Given the description of an element on the screen output the (x, y) to click on. 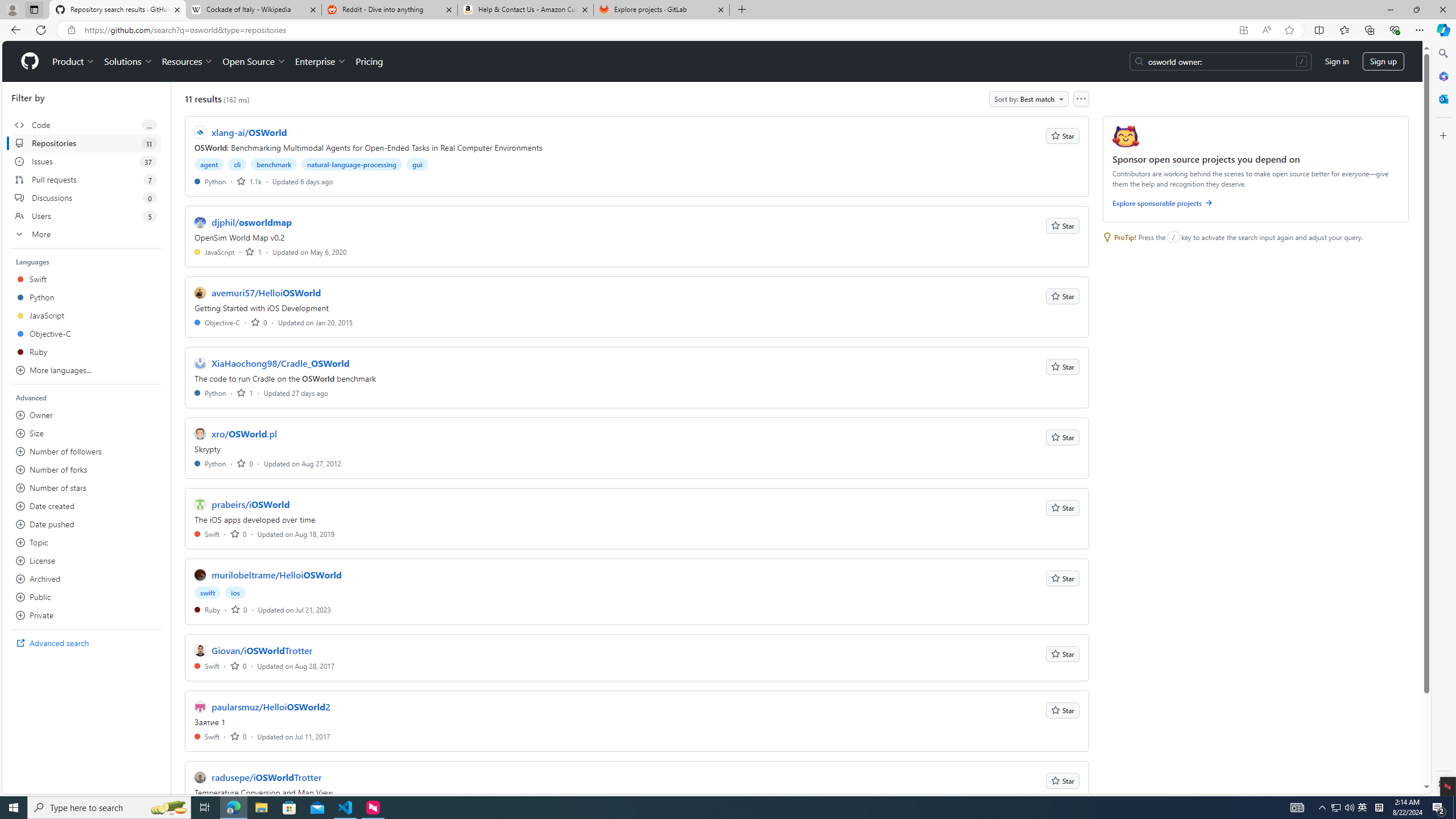
More languages... (86, 370)
JavaScript (214, 251)
0 (238, 736)
More (86, 234)
XiaHaochong98/Cradle_OSWorld (280, 363)
Advanced search (86, 642)
Star (1061, 780)
radusepe/iOSWorldTrotter (266, 777)
Open Source (254, 60)
